Given the description of an element on the screen output the (x, y) to click on. 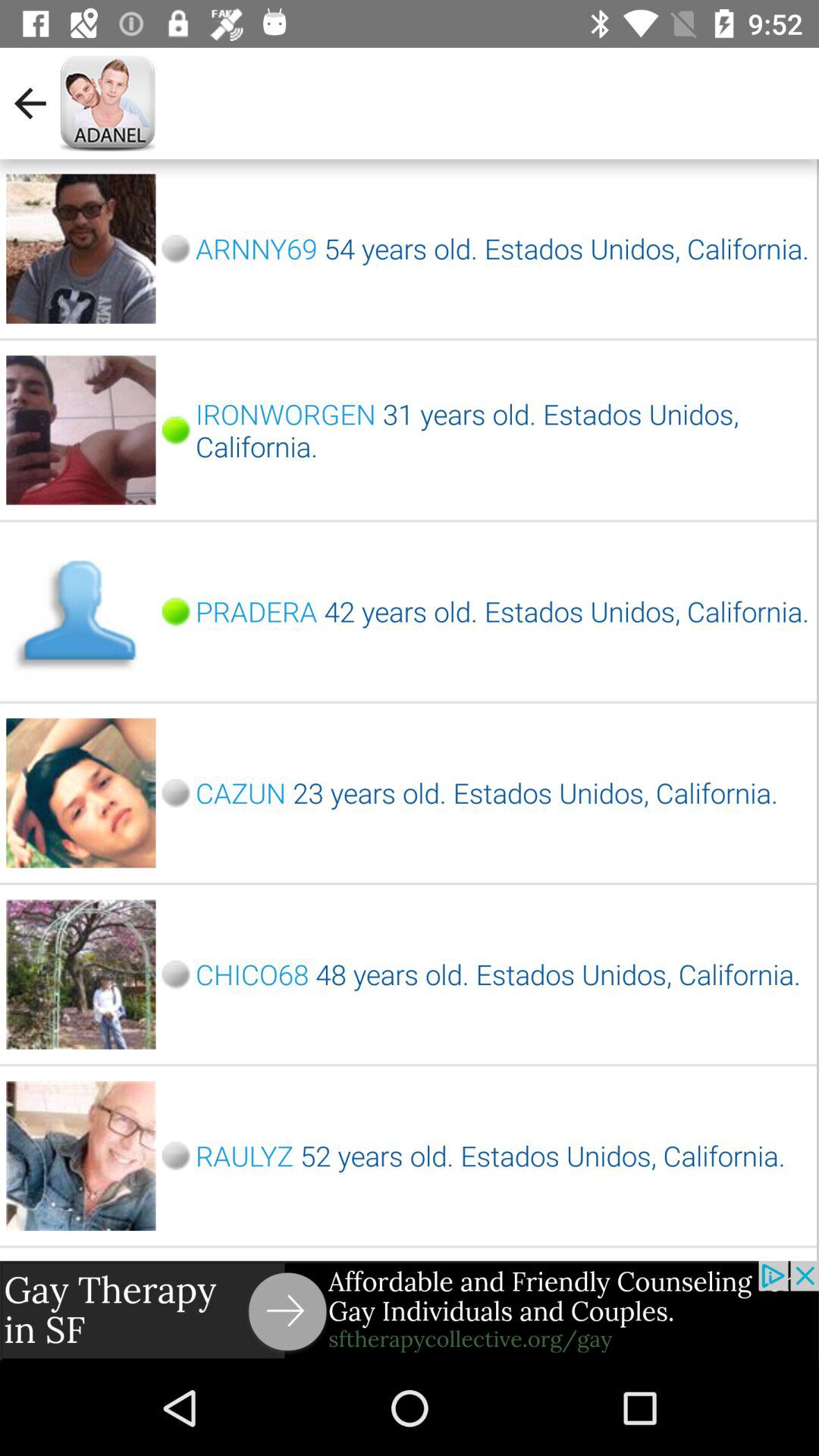
view this advertisement (409, 1310)
